Given the description of an element on the screen output the (x, y) to click on. 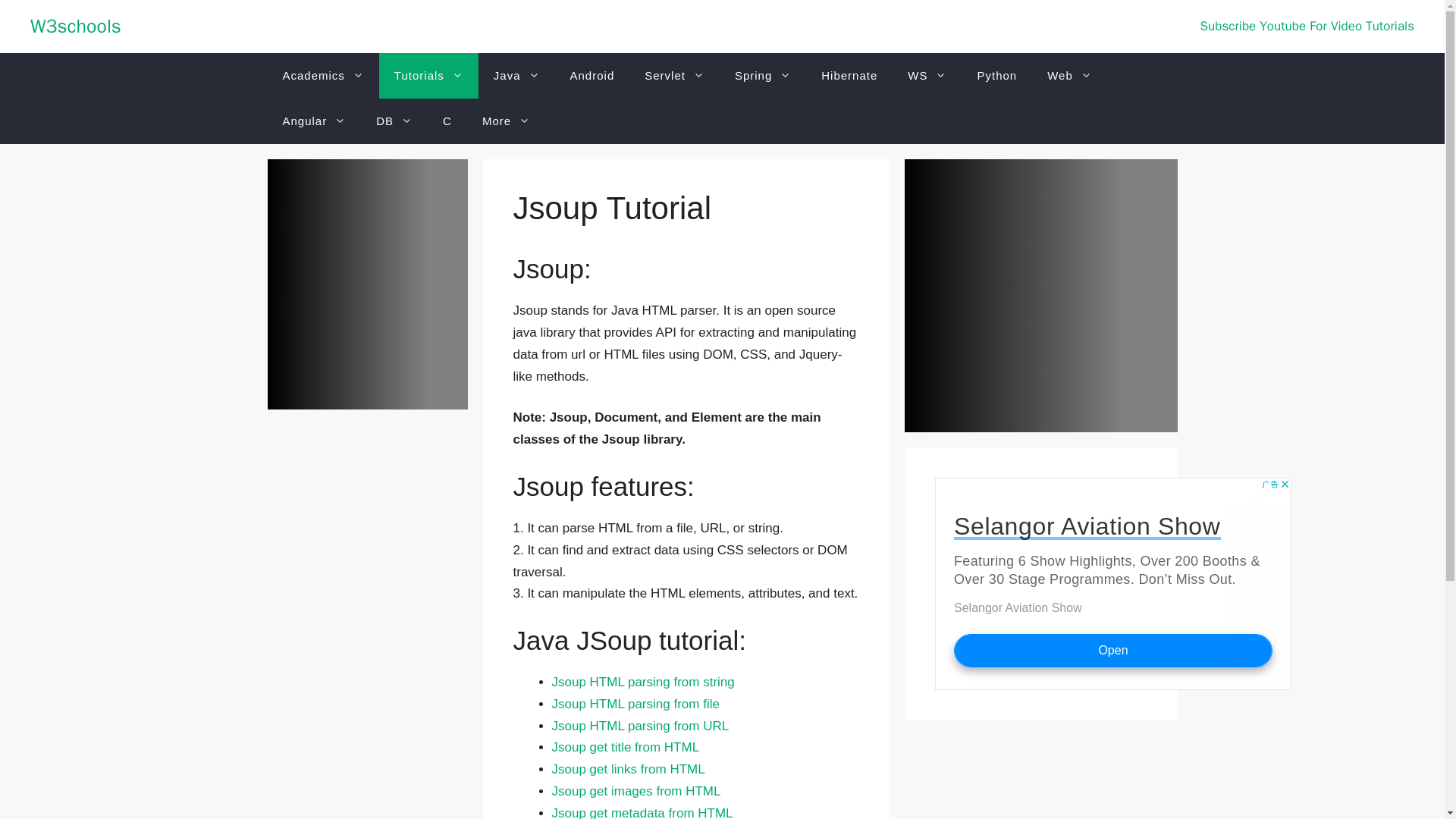
Android (592, 75)
Java (516, 75)
Jsoup HTML parsing from URL (640, 726)
Jsoup HTML parsing from string (643, 681)
Spring (762, 75)
Servlet (673, 75)
Jsoup get title from HTML (625, 747)
Jsoup get images from HTML (635, 790)
Jsoup get links from HTML (627, 769)
Jsoup get metadata from HTML (642, 812)
